Given the description of an element on the screen output the (x, y) to click on. 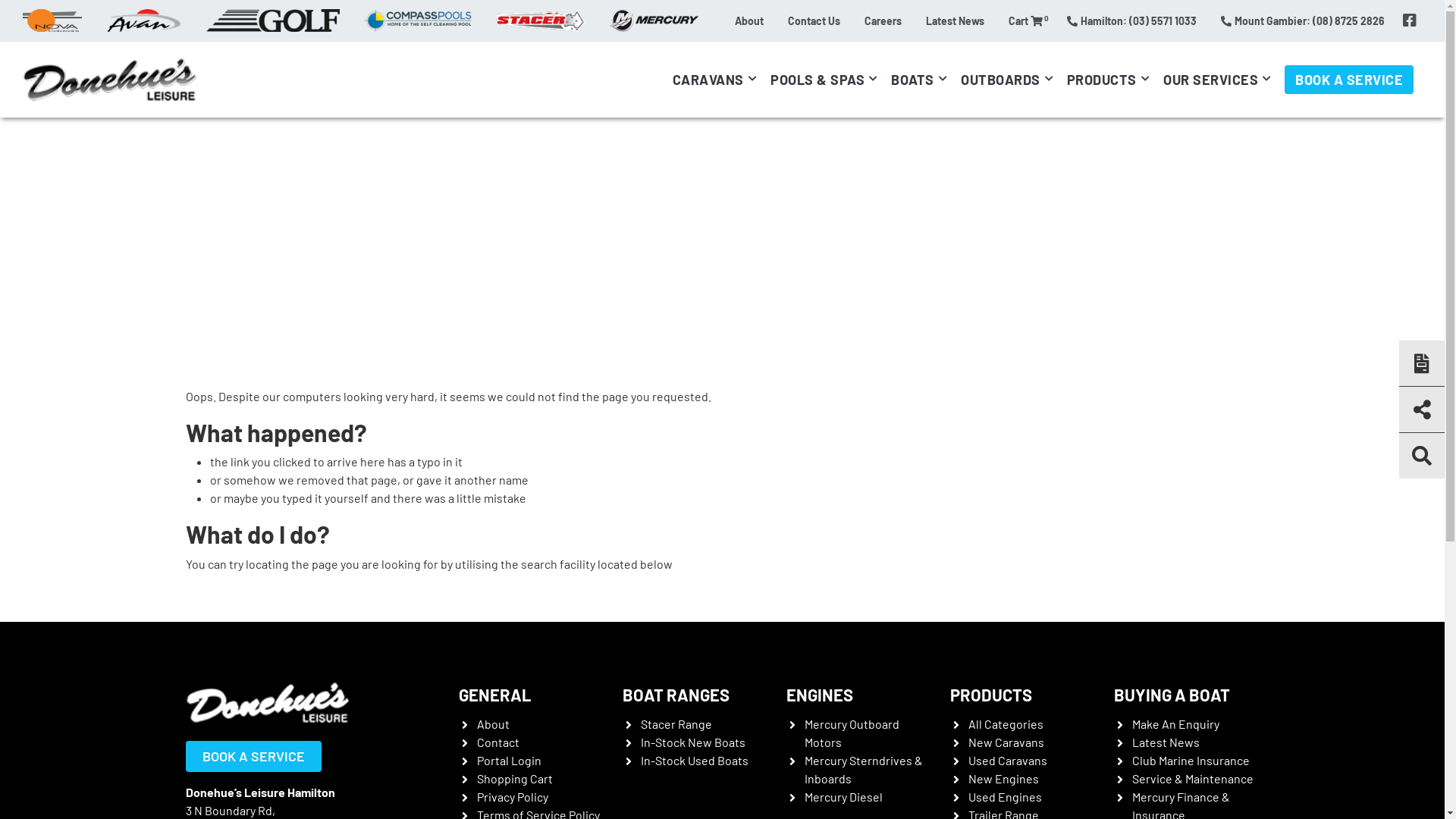
Latest News Element type: text (1164, 741)
Used Engines Element type: text (1004, 796)
New Engines Element type: text (1002, 778)
All Categories Element type: text (1004, 723)
ENGINES Element type: text (818, 694)
Mercury Sterndrives & Inboards Element type: text (862, 769)
PRODUCTS Element type: text (990, 694)
Portal Login Element type: text (508, 760)
Shopping Cart Element type: text (514, 778)
POOLS & SPAS Element type: text (826, 79)
GENERAL Element type: text (494, 694)
Stacer Range Element type: text (675, 723)
New Caravans Element type: text (1005, 741)
Contact Us Element type: text (813, 20)
PRODUCTS Element type: text (1110, 79)
Hamilton: (03) 5571 1033 Element type: text (1131, 20)
In-Stock Used Boats Element type: text (693, 760)
Service & Maintenance Element type: text (1191, 778)
BOOK A SERVICE Element type: text (252, 755)
BOATS Element type: text (921, 79)
Latest News Element type: text (954, 20)
Contact Element type: text (497, 741)
Used Caravans Element type: text (1006, 760)
Privacy Policy Element type: text (511, 796)
About Element type: text (492, 723)
Mount Gambier: (08) 8725 2826 Element type: text (1302, 20)
Follow our page on Facebook! Element type: hover (1409, 20)
In-Stock New Boats Element type: text (692, 741)
OUR SERVICES Element type: text (1220, 79)
Mercury Diesel Element type: text (842, 796)
Careers Element type: text (882, 20)
Mercury Outboard Motors Element type: text (850, 732)
BUYING A BOAT Element type: text (1171, 694)
CARAVANS Element type: text (717, 79)
Make An Enquiry Element type: text (1174, 723)
Club Marine Insurance Element type: text (1189, 760)
OUTBOARDS Element type: text (1009, 79)
BOOK A SERVICE Element type: text (1348, 79)
BOAT RANGES Element type: text (674, 694)
About Element type: text (748, 20)
Cart
0 Element type: text (1025, 20)
